Given the description of an element on the screen output the (x, y) to click on. 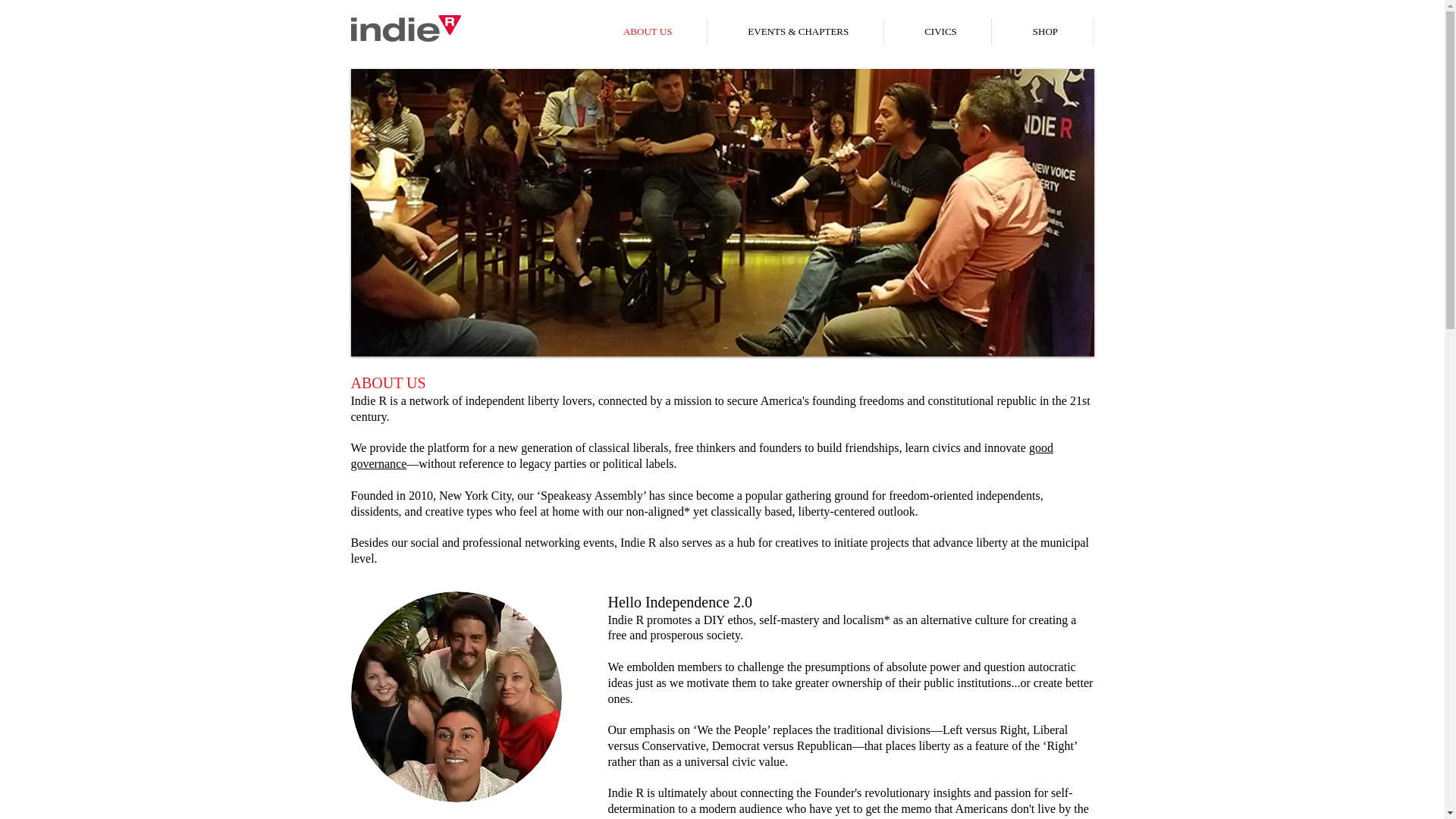
CIVICS (940, 31)
ABOUT US (647, 31)
good governance (701, 455)
SHOP (1045, 31)
